Given the description of an element on the screen output the (x, y) to click on. 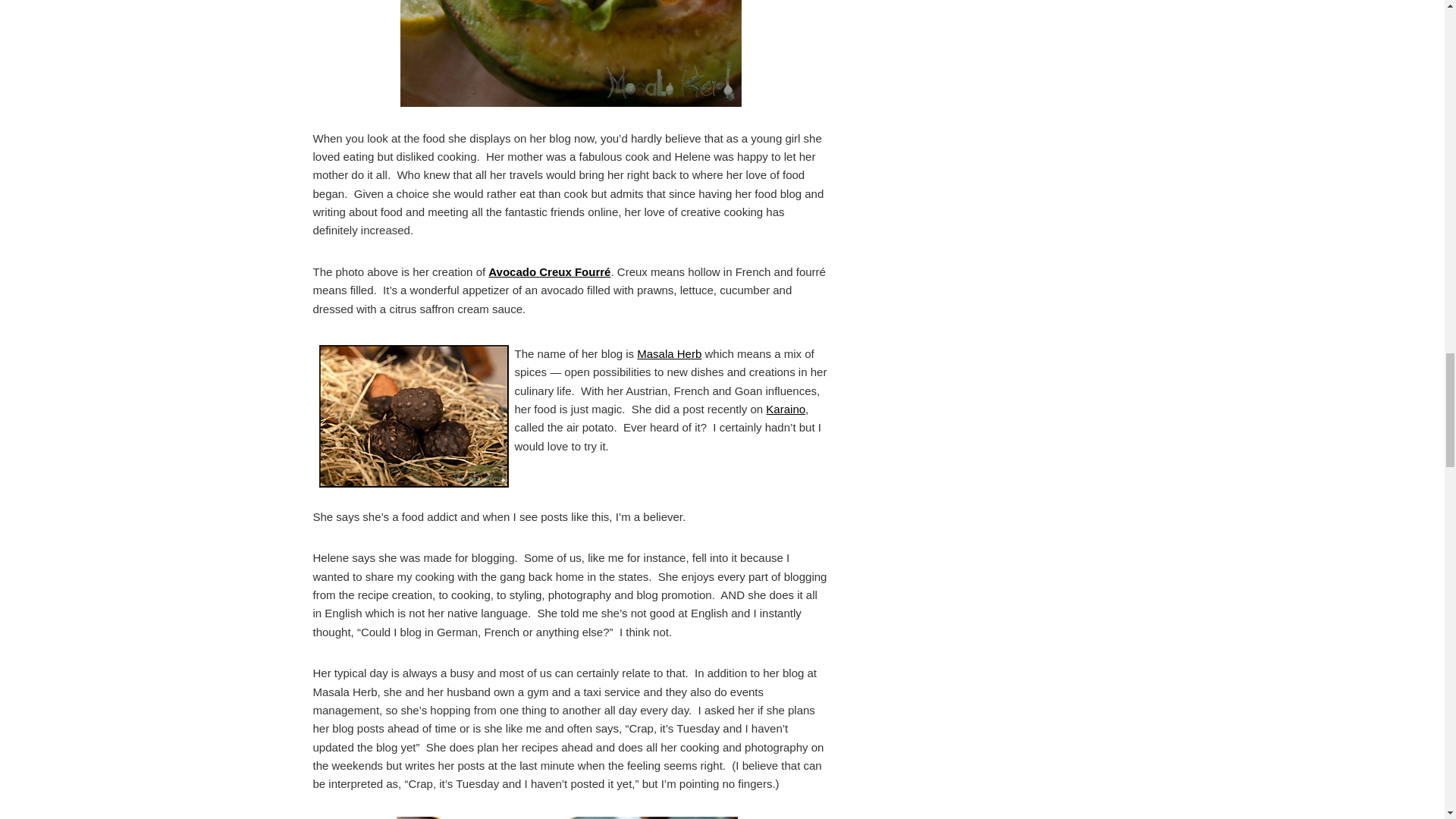
Masala Herb - a food blog (669, 353)
karaino - the air potato (413, 415)
The Air Potato - Karaino - a post by masalaherb.com (785, 408)
